Given the description of an element on the screen output the (x, y) to click on. 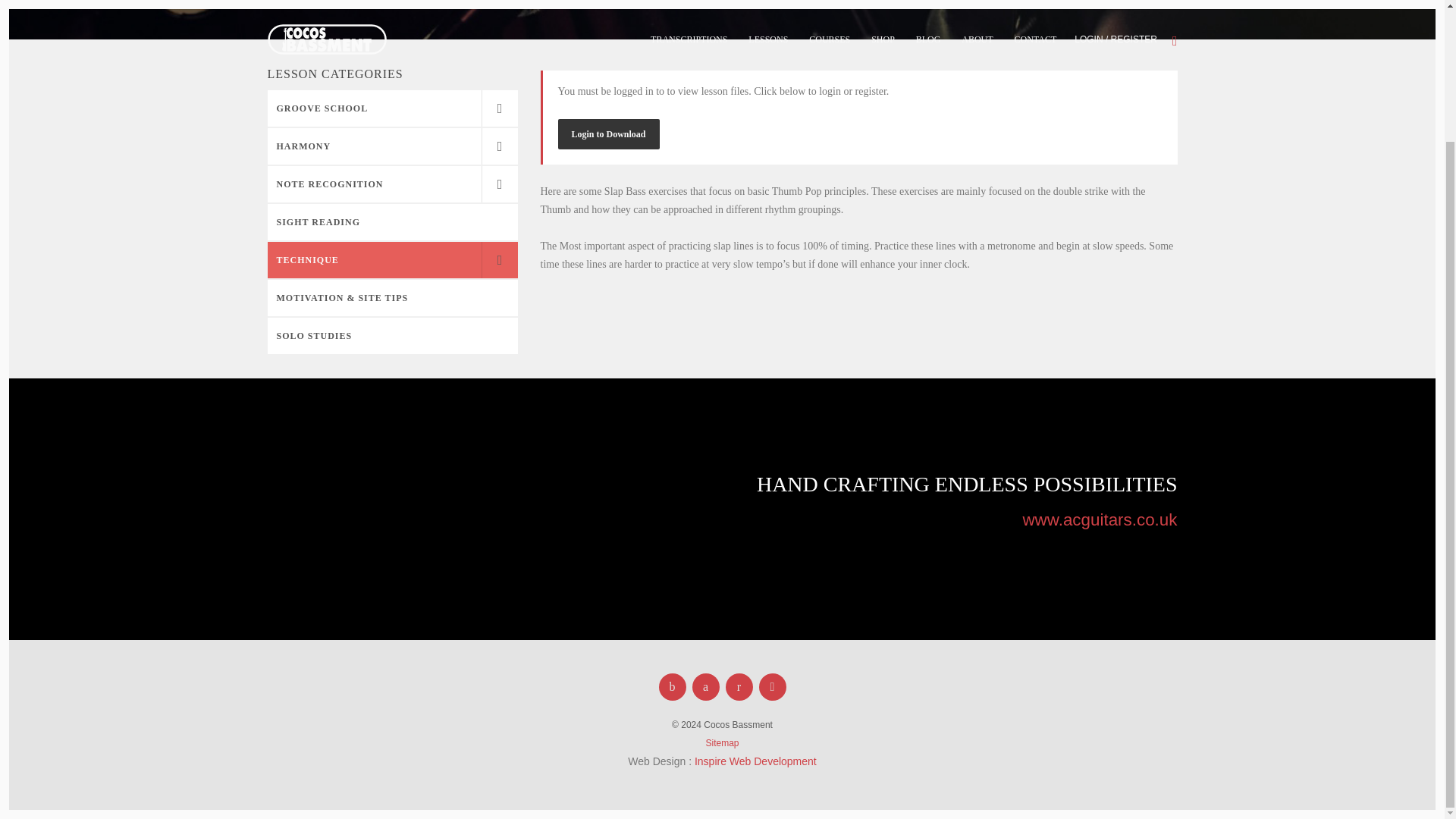
NOTE RECOGNITION (391, 184)
SIGHT READING (391, 221)
Twitter (705, 687)
Login to Download (608, 133)
SOLO STUDIES (391, 335)
Youtube (738, 687)
TECHNIQUE (391, 259)
Youtube (738, 687)
www.acguitars.co.uk (1099, 519)
HARMONY (391, 145)
